Given the description of an element on the screen output the (x, y) to click on. 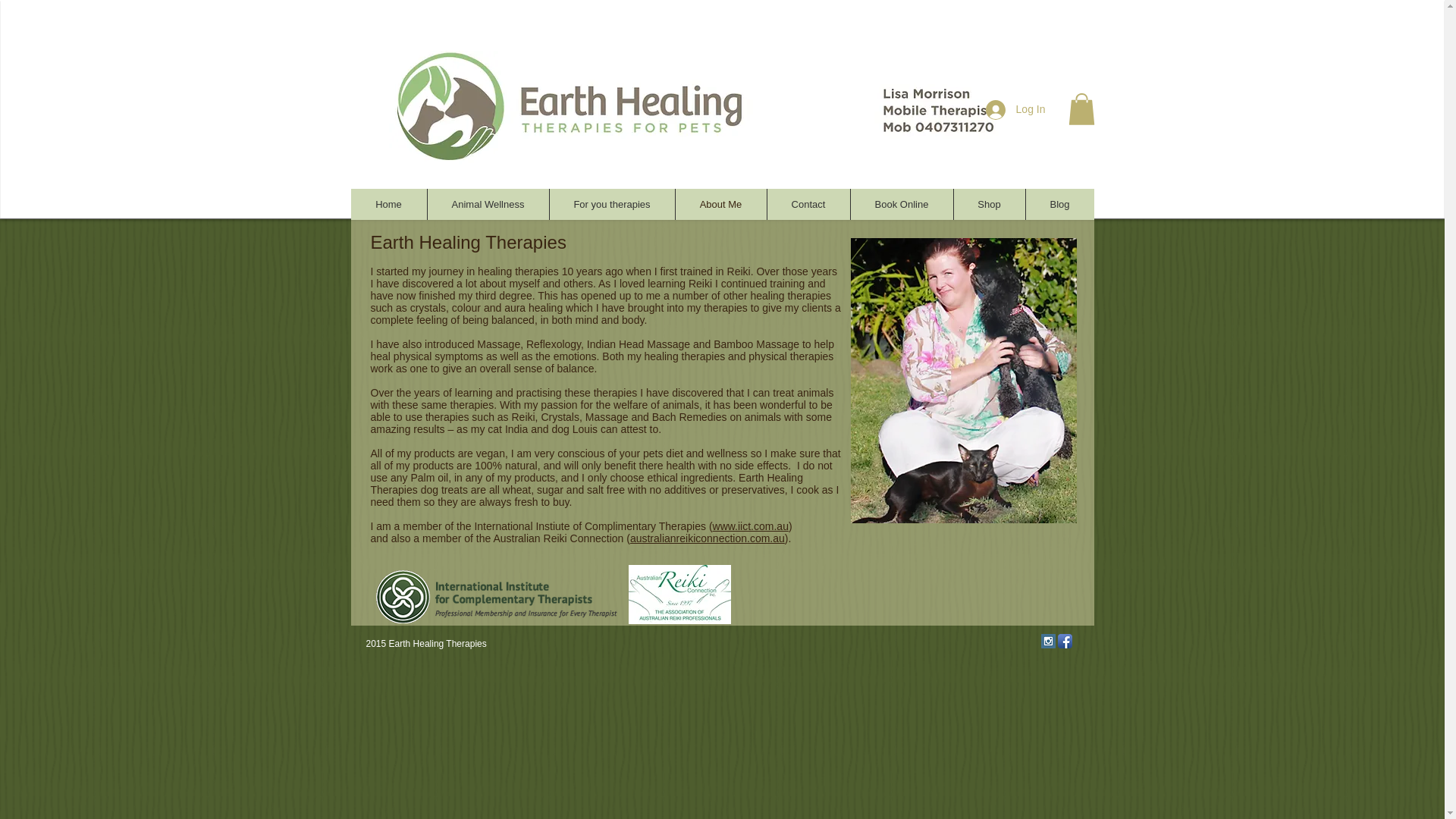
For you therapies (611, 204)
Shop (988, 204)
Animal Wellness (487, 204)
Log In (1016, 109)
Home (388, 204)
About Me (721, 204)
Book Online (900, 204)
Contact (806, 204)
Blog (1059, 204)
www.iict.com.au (751, 526)
